Given the description of an element on the screen output the (x, y) to click on. 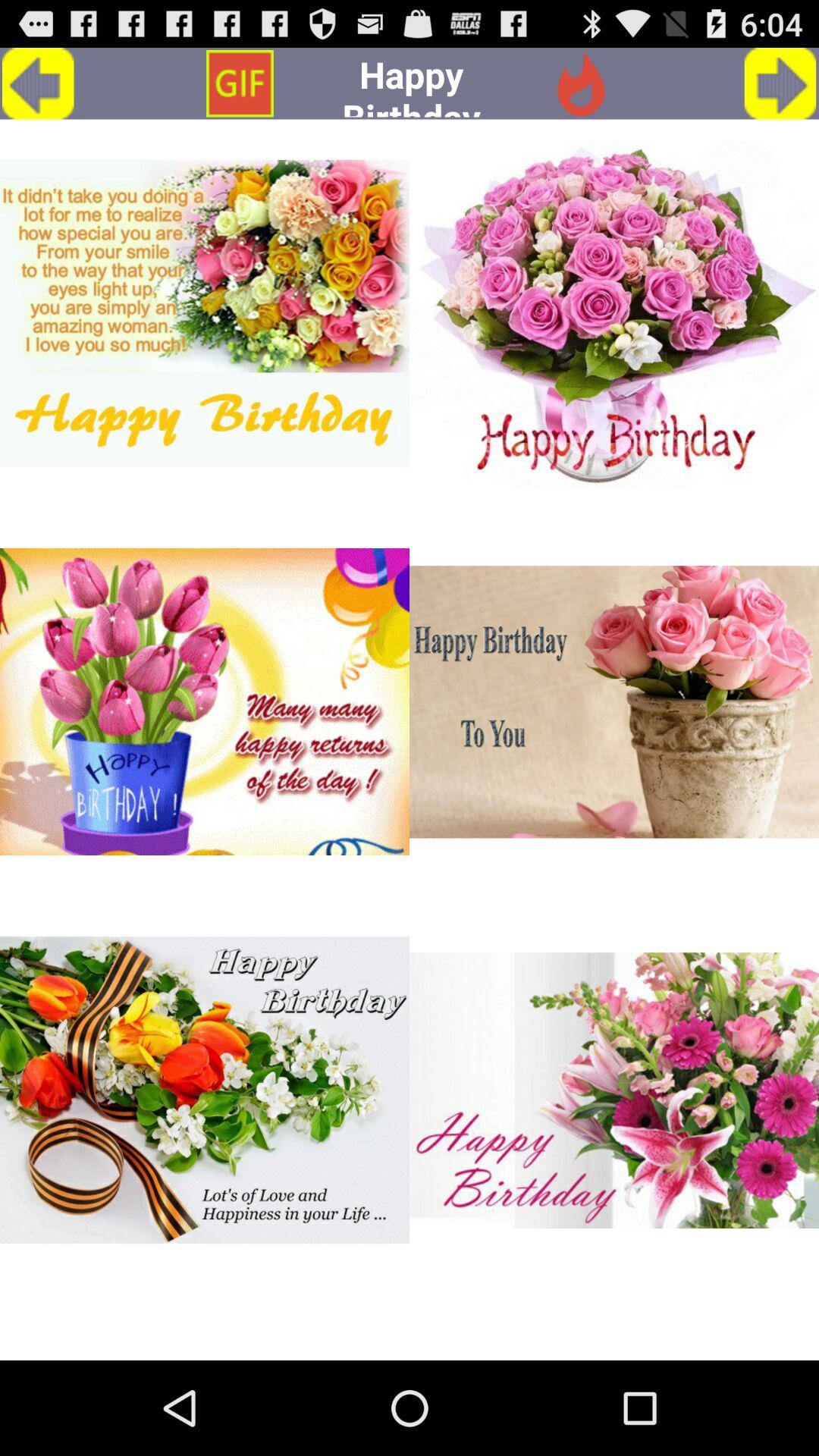
launch icon next to the happy birthday app (580, 83)
